Given the description of an element on the screen output the (x, y) to click on. 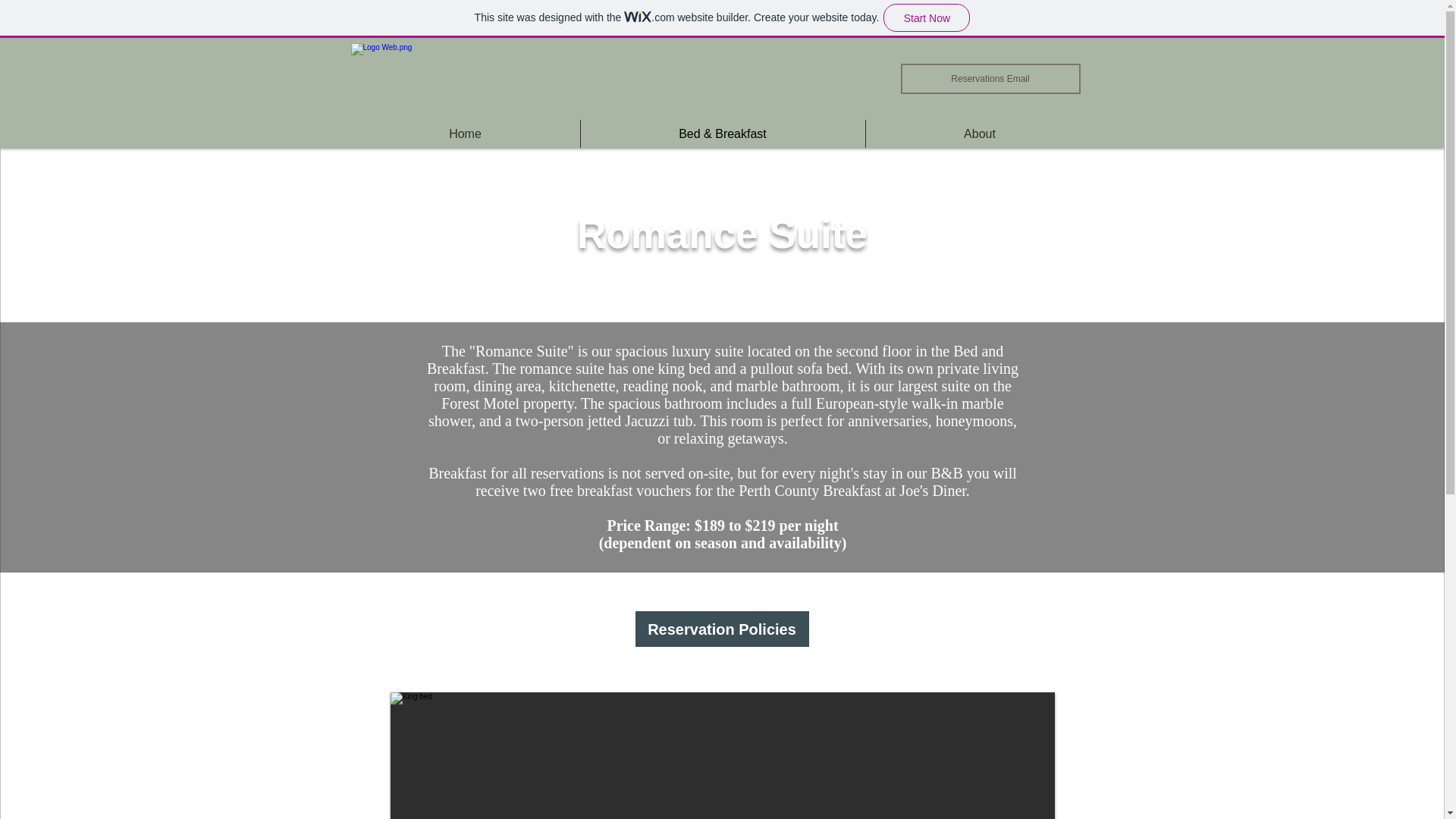
Reservations Email (990, 78)
Home (464, 133)
Reservation Policies (720, 629)
About (980, 133)
